Given the description of an element on the screen output the (x, y) to click on. 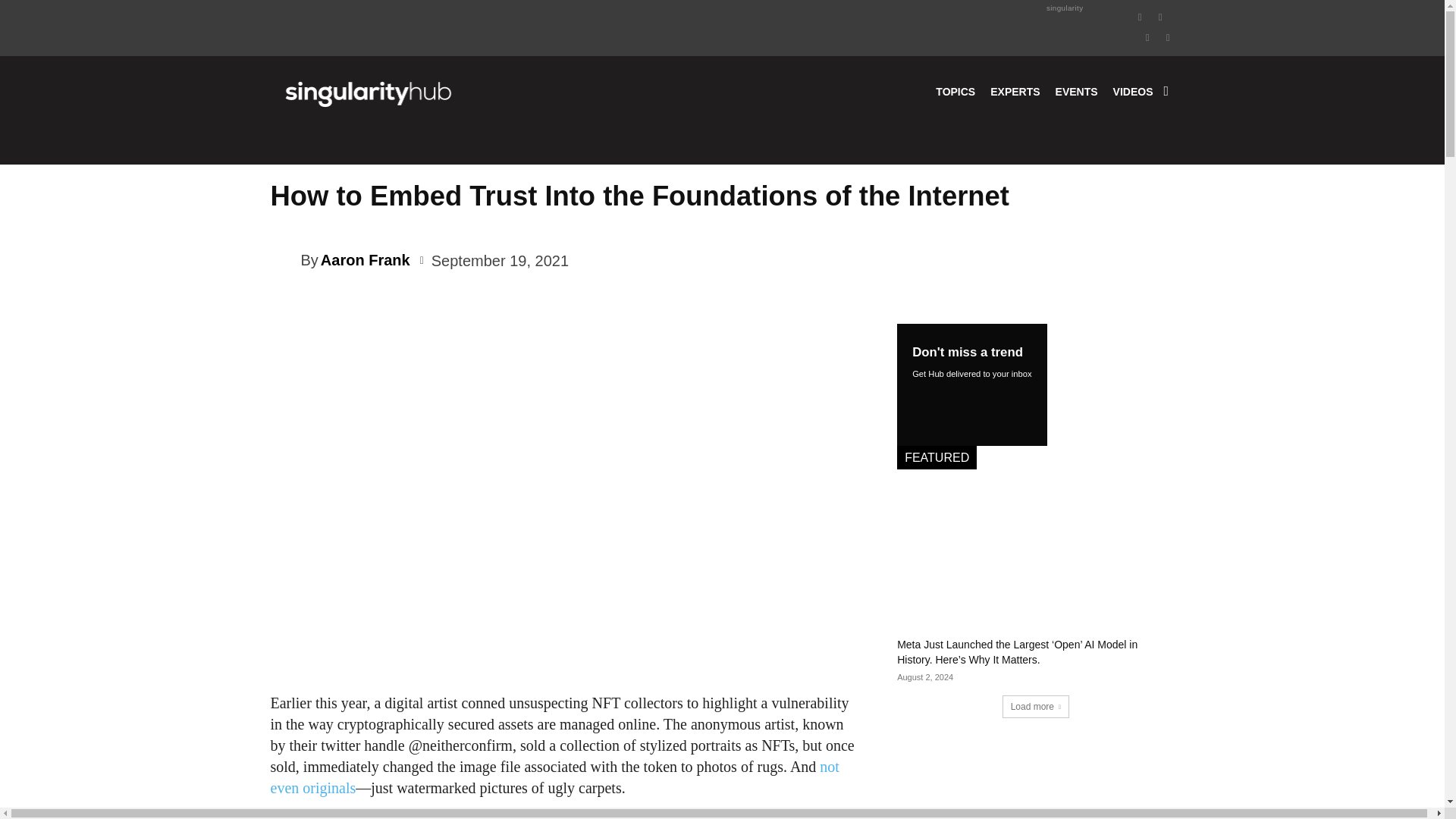
Twitter (1147, 35)
Facebook (1140, 15)
EXPERTS (1014, 91)
TOPICS (955, 91)
Instagram (1160, 15)
Aaron Frank (284, 259)
Youtube (1167, 35)
